Given the description of an element on the screen output the (x, y) to click on. 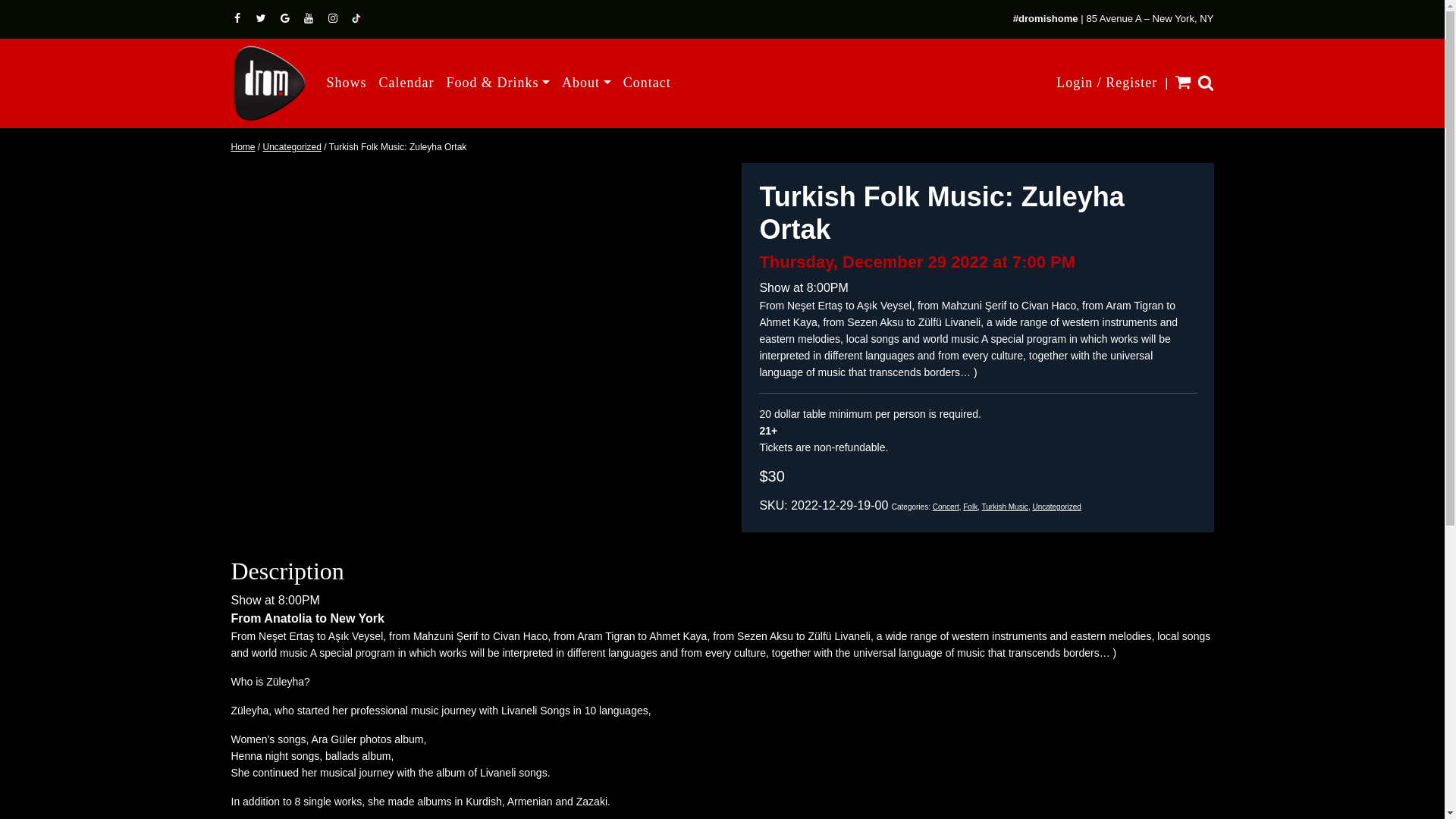
facebook (238, 18)
instagram (334, 18)
Shows (346, 82)
Tiktok (356, 18)
Home (242, 146)
Uncategorized (1056, 506)
youtube (309, 18)
Contact (647, 82)
Folk (969, 506)
About (586, 82)
Turkish Music (1004, 506)
twitter (261, 18)
Uncategorized (292, 146)
Concert (946, 506)
google (286, 18)
